Given the description of an element on the screen output the (x, y) to click on. 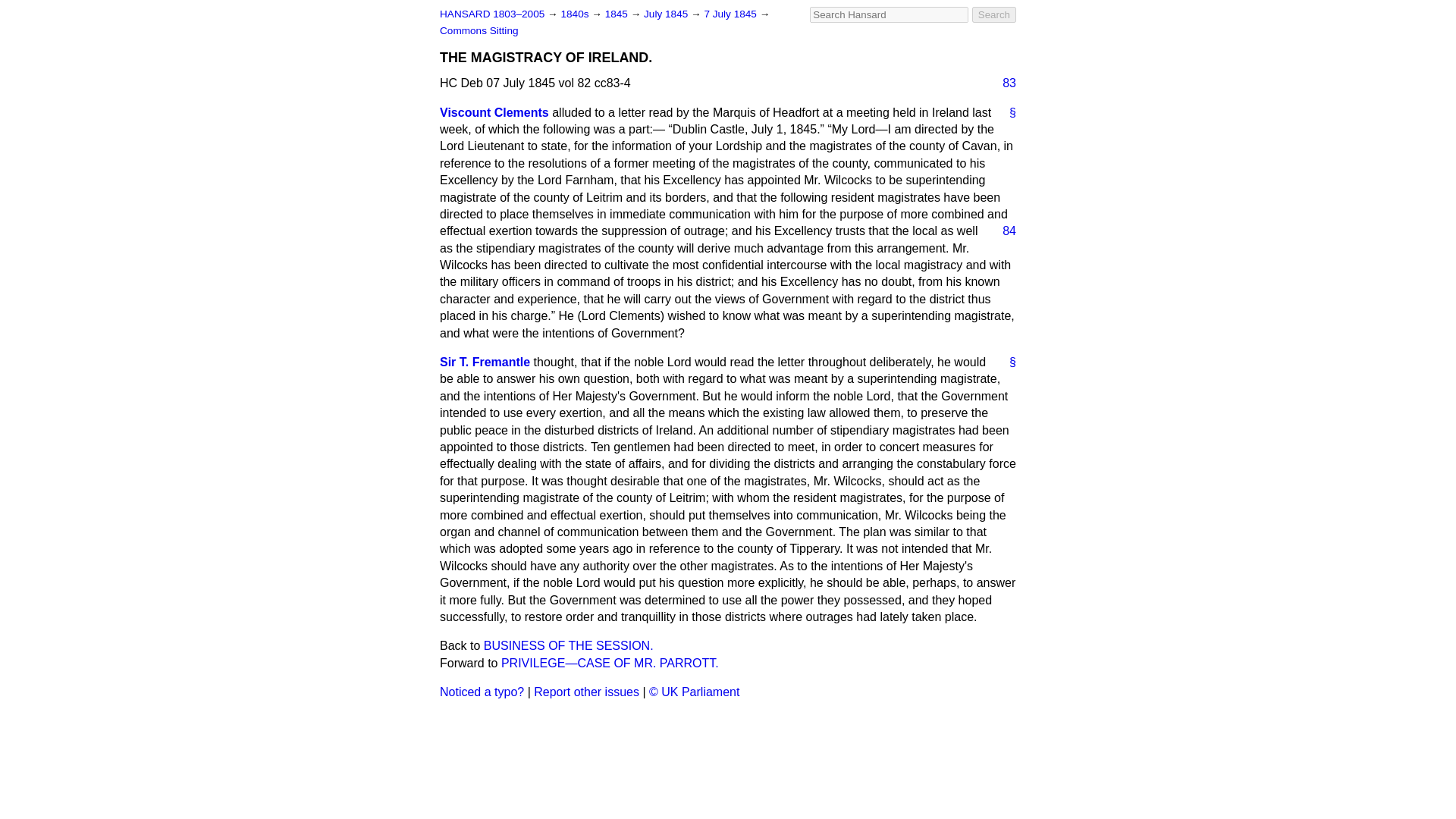
Search (994, 14)
Commons Sitting (478, 30)
July 1845 (666, 13)
Link to this speech by Viscount  Clements (1006, 112)
1845 (617, 13)
83 (1003, 83)
Search (994, 14)
BUSINESS OF THE SESSION. (568, 645)
Sir Thomas Fremantle (484, 361)
Viscount  Clements (493, 112)
Viscount Clements (493, 112)
1840s (575, 13)
Sir T. Fremantle (484, 361)
7 July 1845 (730, 13)
Link to this speech by Sir Thomas Fremantle (1006, 362)
